Given the description of an element on the screen output the (x, y) to click on. 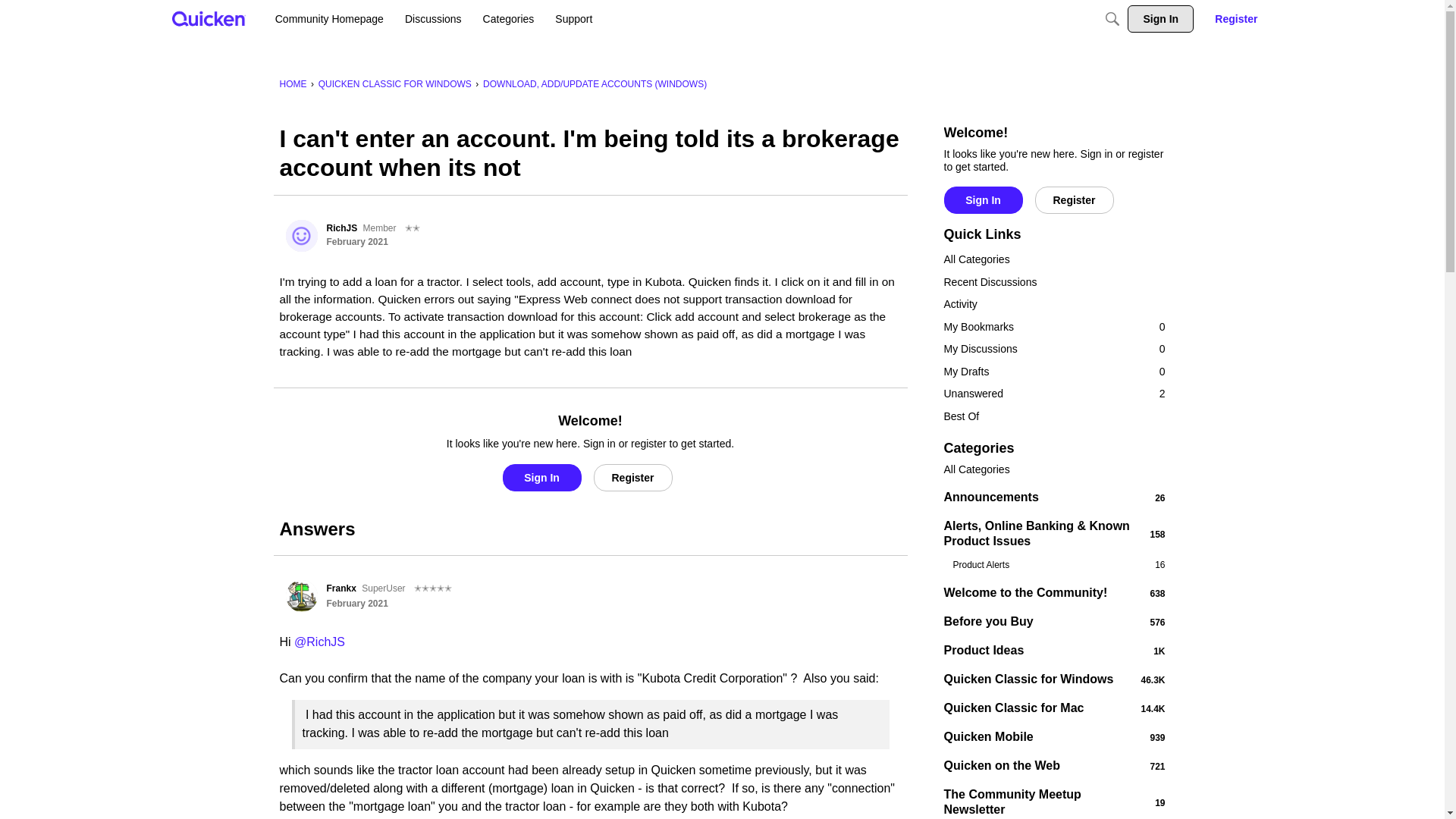
Categories (508, 18)
February 2021 (356, 241)
Discussions (432, 18)
Sign In (982, 199)
Support (573, 18)
Community Homepage (329, 18)
February 5, 2021 7:33AM (356, 603)
Sign In (1159, 18)
HOME (292, 83)
Sign In (541, 477)
